Given the description of an element on the screen output the (x, y) to click on. 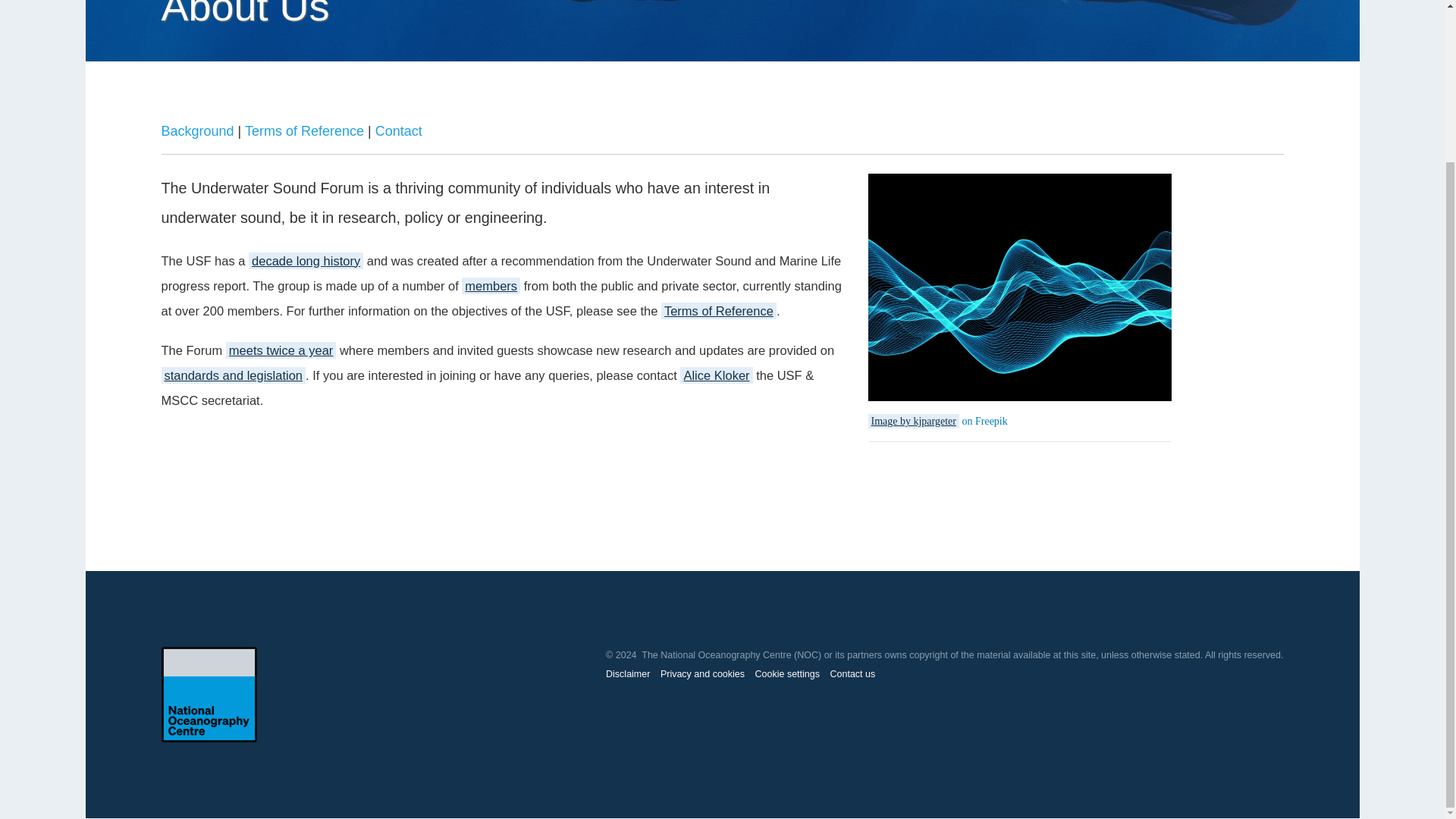
Privacy and cookies (702, 674)
Contact (398, 130)
Disclaimer (627, 674)
meets twice a year (280, 350)
Image by kjpargeter (912, 421)
Background (196, 130)
Alice Kloker (715, 375)
Terms of Reference (304, 130)
decade long history (305, 260)
standards and legislation (232, 375)
Terms of Reference (718, 310)
members (490, 285)
Contact us (852, 674)
Cookie settings (787, 674)
